Given the description of an element on the screen output the (x, y) to click on. 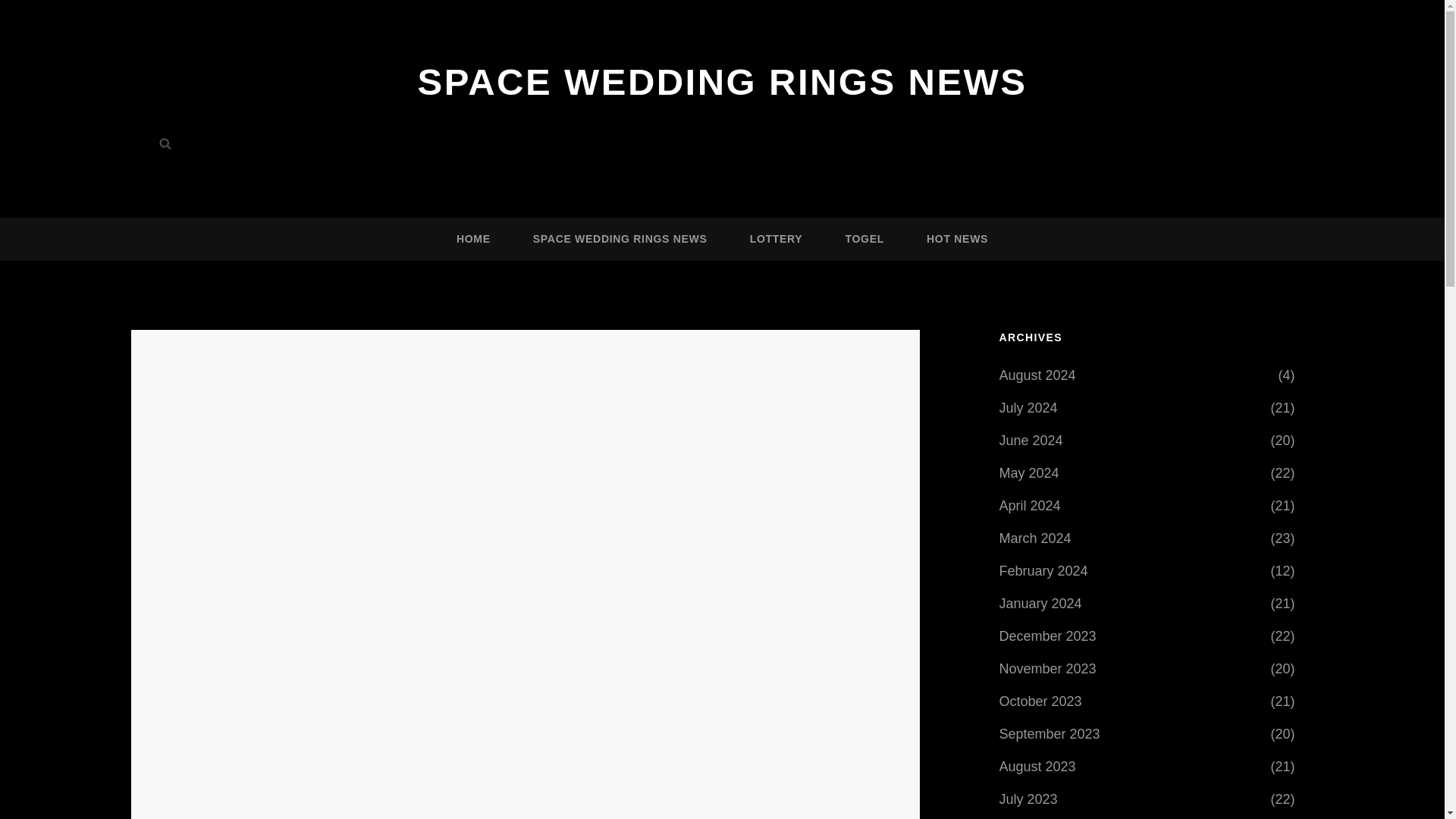
September 2023 (1049, 733)
SPACE WEDDING RINGS NEWS (619, 239)
December 2023 (1047, 636)
February 2024 (1042, 570)
August 2024 (1036, 375)
March 2024 (1034, 538)
April 2024 (1029, 505)
SPACE WEDDING RINGS NEWS (722, 81)
HOME (473, 239)
May 2024 (1028, 472)
ADMIN1989 (487, 460)
June 2023 (1030, 818)
January 2024 (1039, 603)
HOT NEWS (957, 239)
August 2023 (1036, 766)
